Given the description of an element on the screen output the (x, y) to click on. 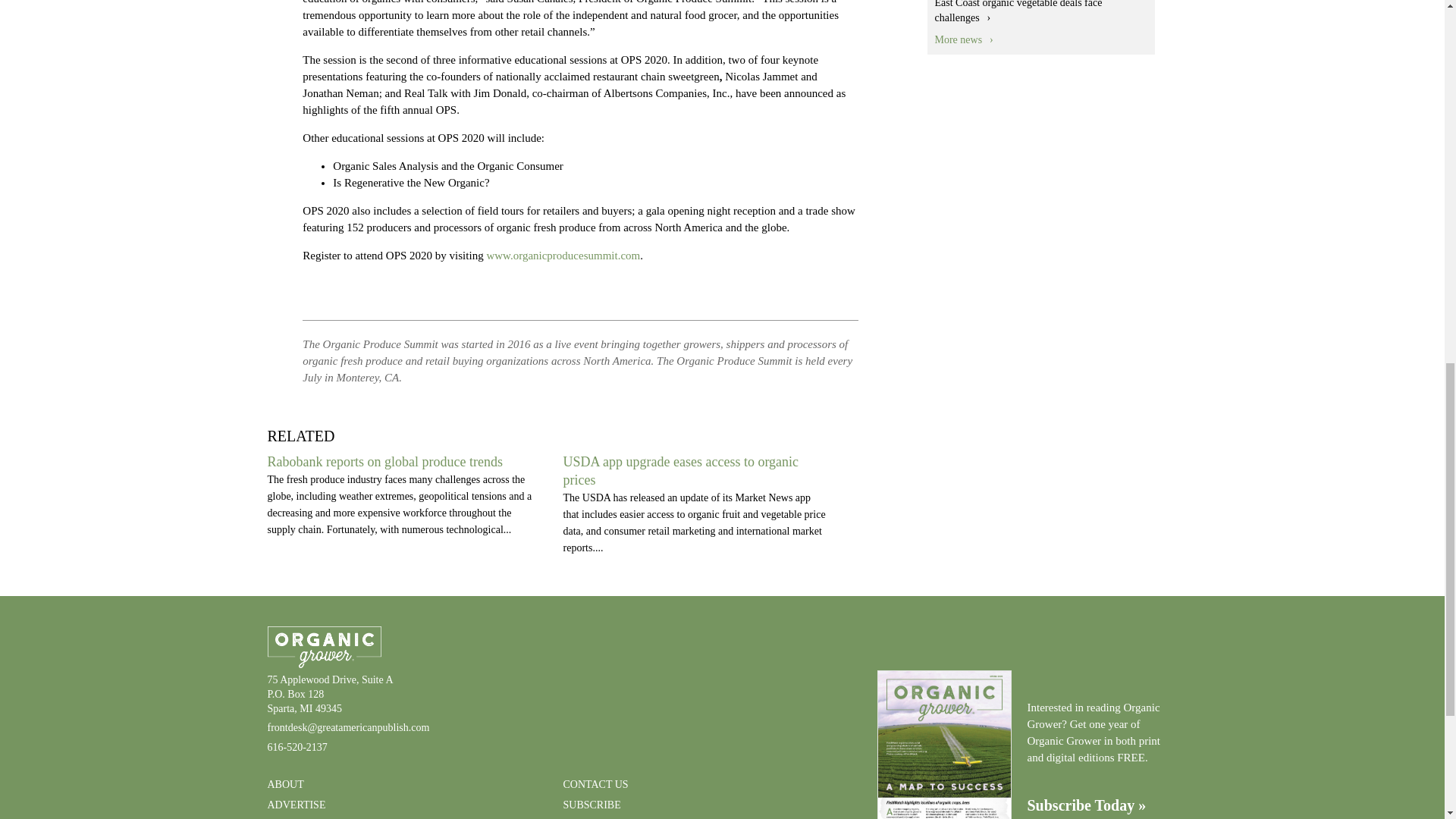
CONTACT US (594, 784)
East Coast organic vegetable deals face challenges (1018, 11)
www.organicproducesummit.com (563, 255)
Rabobank reports on global produce trends (384, 461)
More news (963, 39)
USDA app upgrade eases access to organic prices (679, 470)
ABOUT (284, 784)
